Given the description of an element on the screen output the (x, y) to click on. 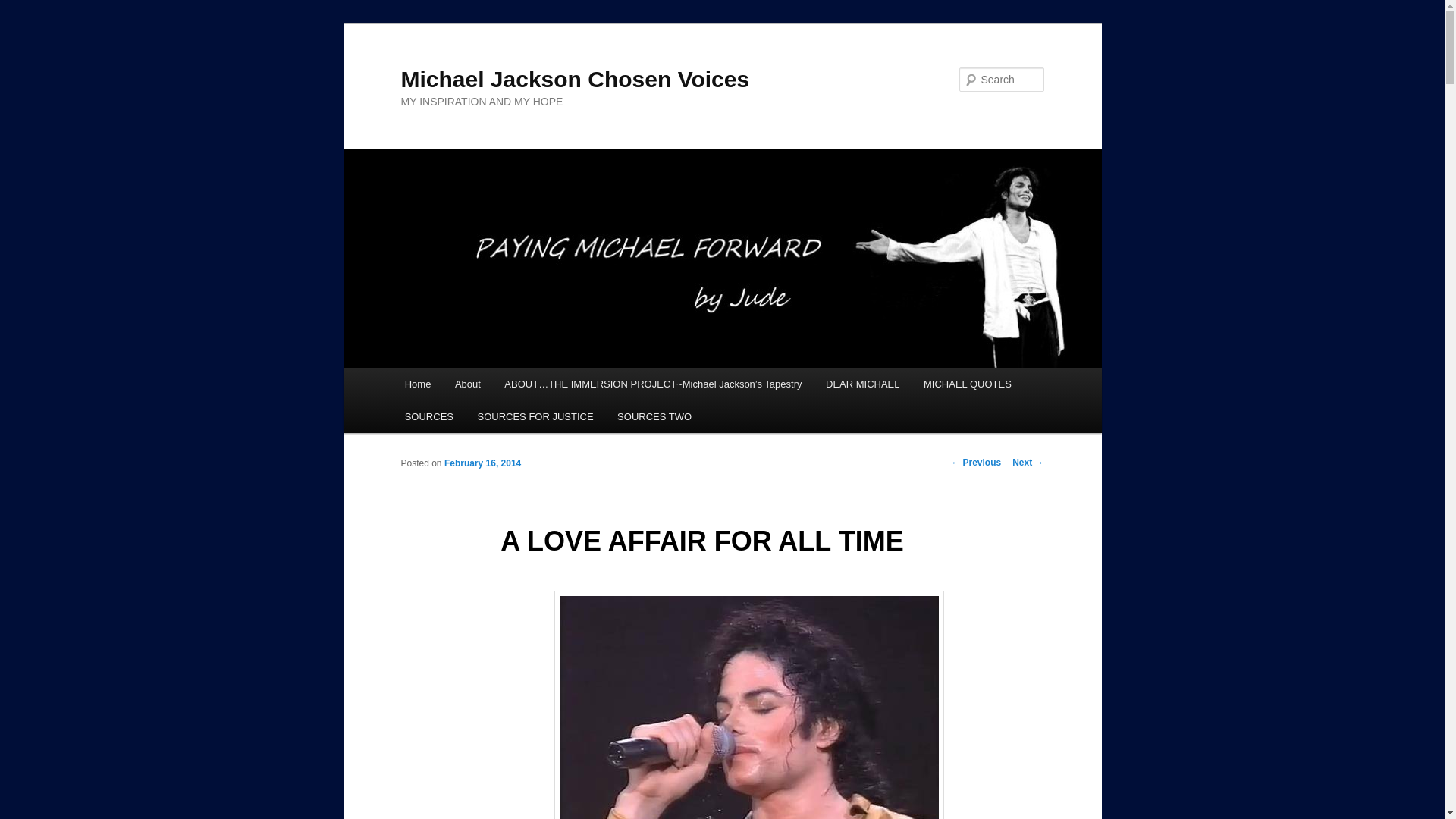
Skip to primary content (472, 386)
About (467, 383)
MICHAEL QUOTES (967, 383)
SOURCES TWO (654, 416)
SOURCES FOR JUSTICE (535, 416)
DEAR MICHAEL (862, 383)
Skip to secondary content (479, 386)
Michael Jackson Chosen Voices (574, 78)
Skip to primary content (472, 386)
February 16, 2014 (482, 462)
SOURCES (429, 416)
Home (417, 383)
Michael Jackson Chosen Voices (574, 78)
Skip to secondary content (479, 386)
Search (24, 8)
